Given the description of an element on the screen output the (x, y) to click on. 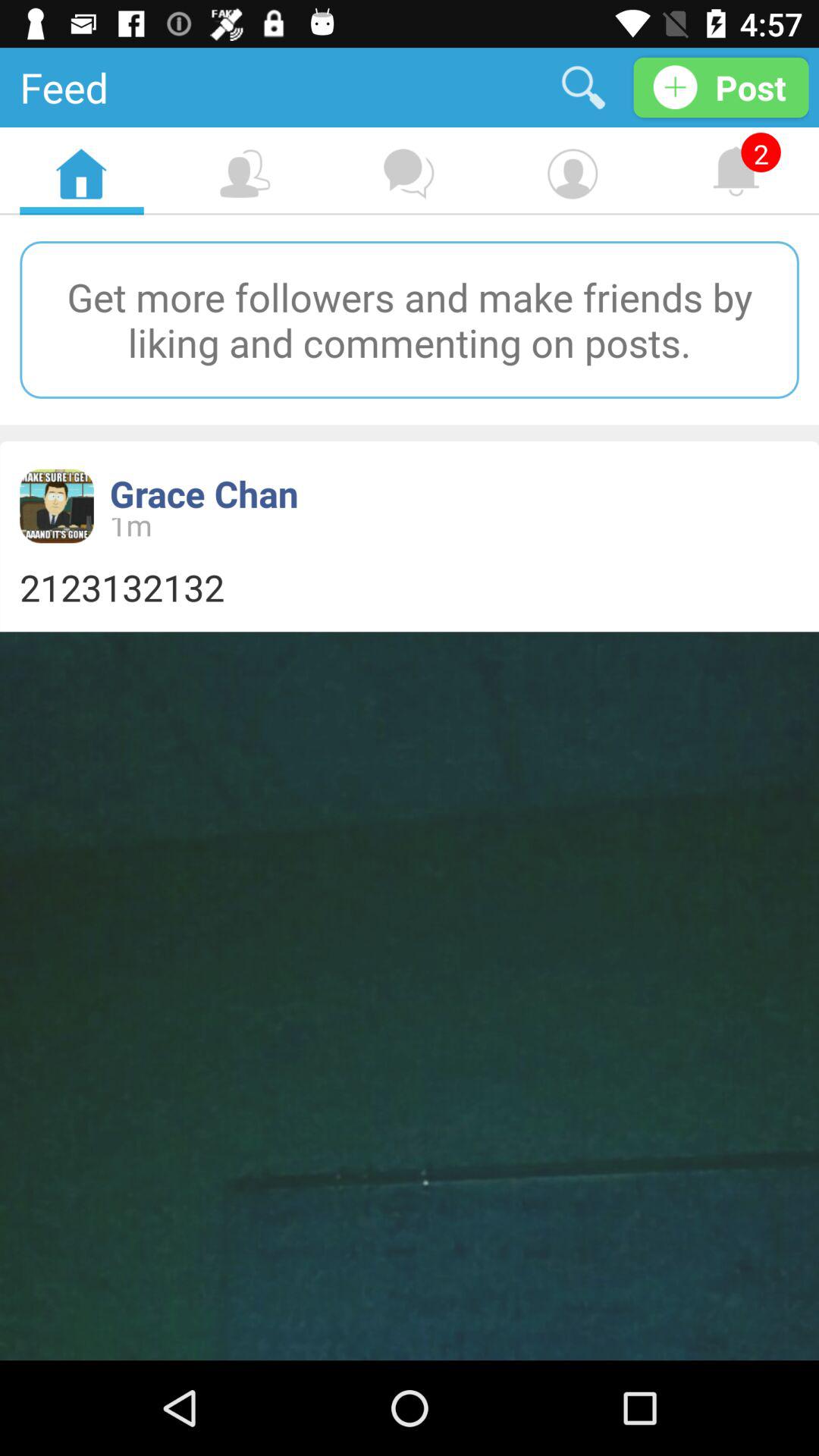
tap item next to the feed icon (583, 87)
